Given the description of an element on the screen output the (x, y) to click on. 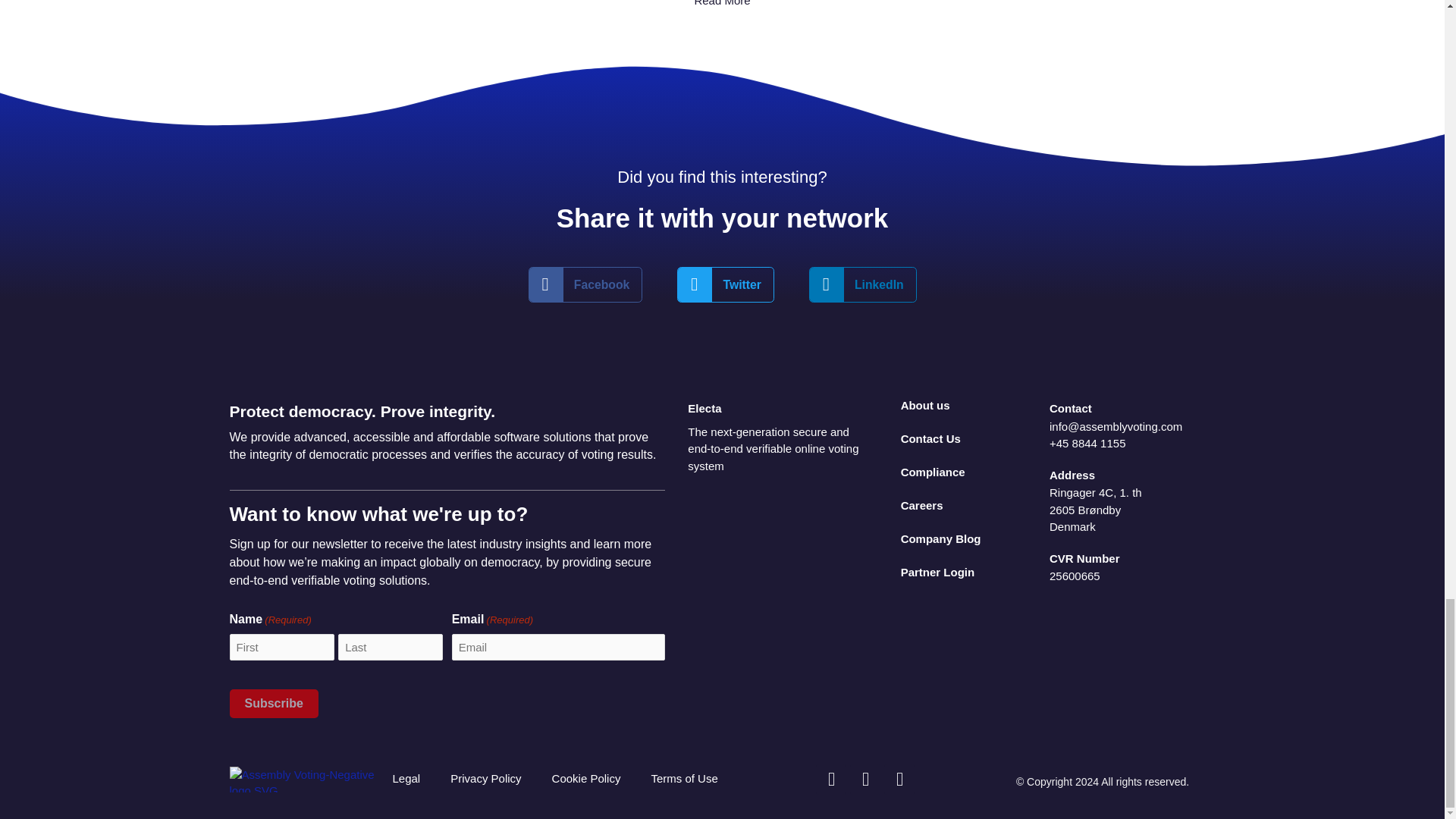
Subscribe (272, 703)
